Given the description of an element on the screen output the (x, y) to click on. 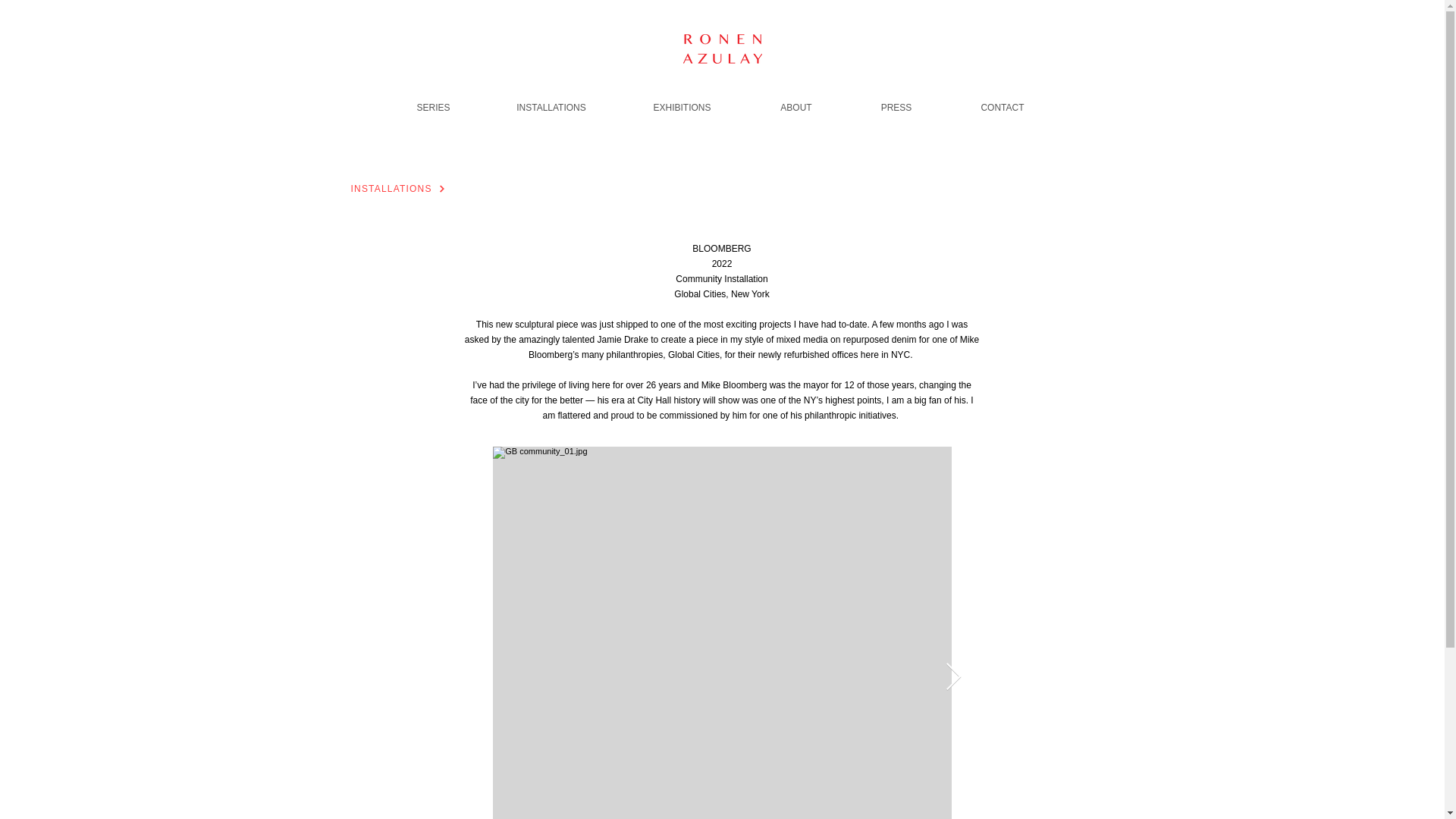
ABOUT (795, 100)
SERIES (433, 100)
INSTALLATIONS (551, 100)
INSTALLATIONS (408, 188)
PRESS (895, 100)
CONTACT (1001, 100)
EXHIBITIONS (681, 100)
